Given the description of an element on the screen output the (x, y) to click on. 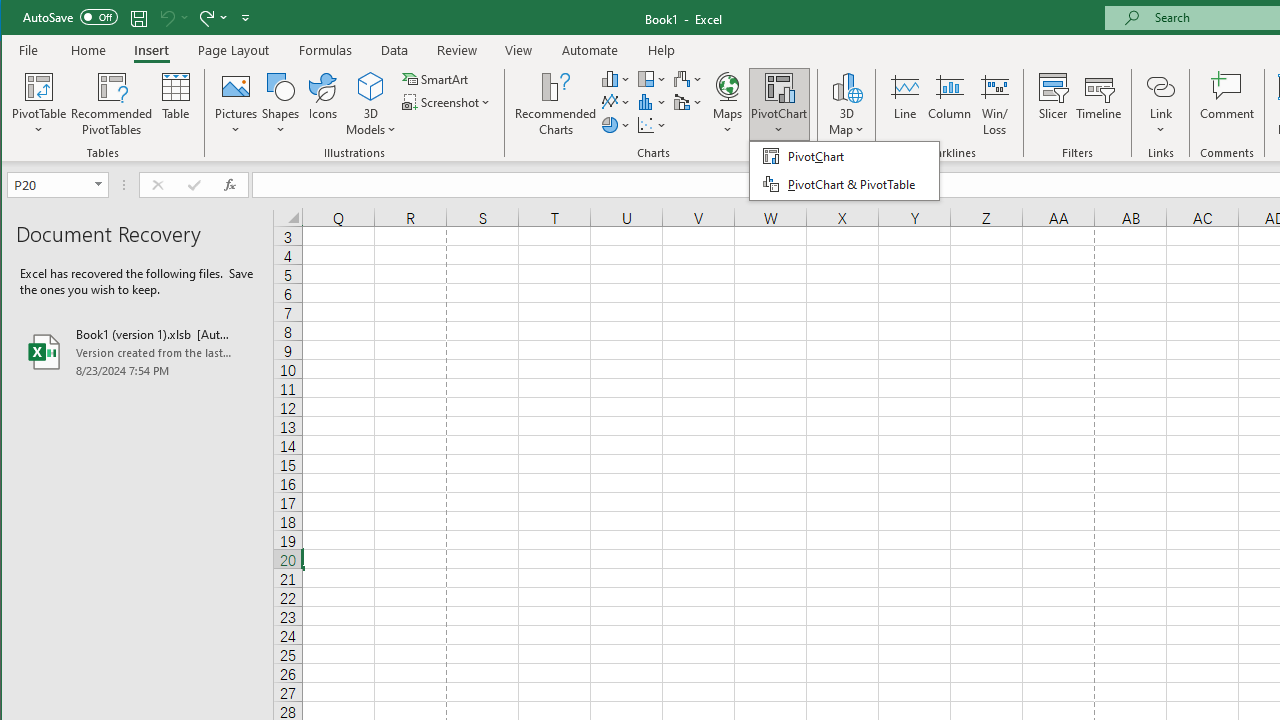
Insert Line or Area Chart (616, 101)
Insert Hierarchy Chart (652, 78)
Insert Combo Chart (688, 101)
PivotTable (39, 104)
Recommended Charts (556, 104)
Pictures (235, 104)
Recommended PivotTables (111, 104)
Screenshot (447, 101)
